Given the description of an element on the screen output the (x, y) to click on. 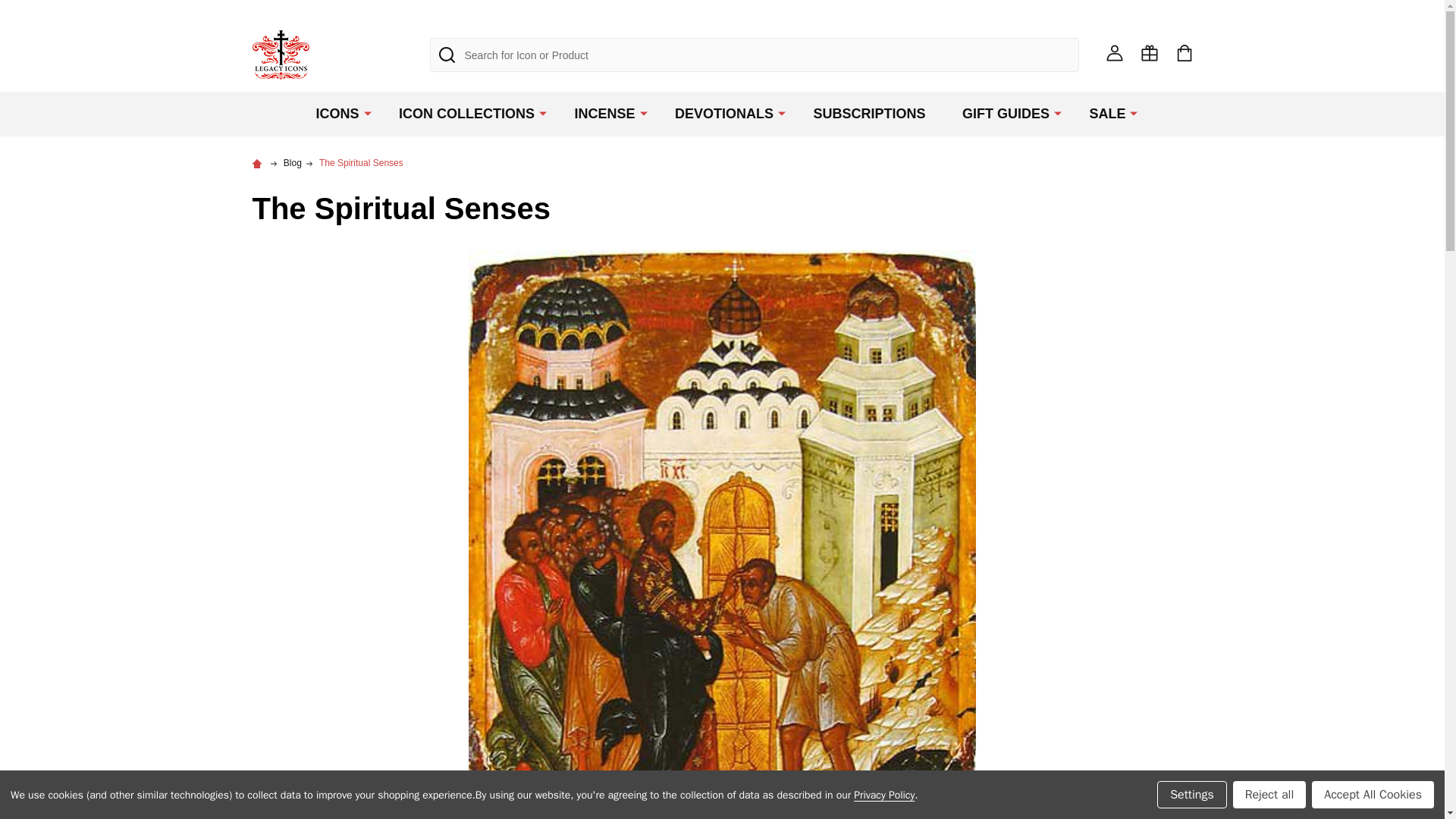
Cart (1183, 52)
ICONS (334, 113)
Gift Certificates (1148, 52)
Legacy Icons (279, 54)
